Given the description of an element on the screen output the (x, y) to click on. 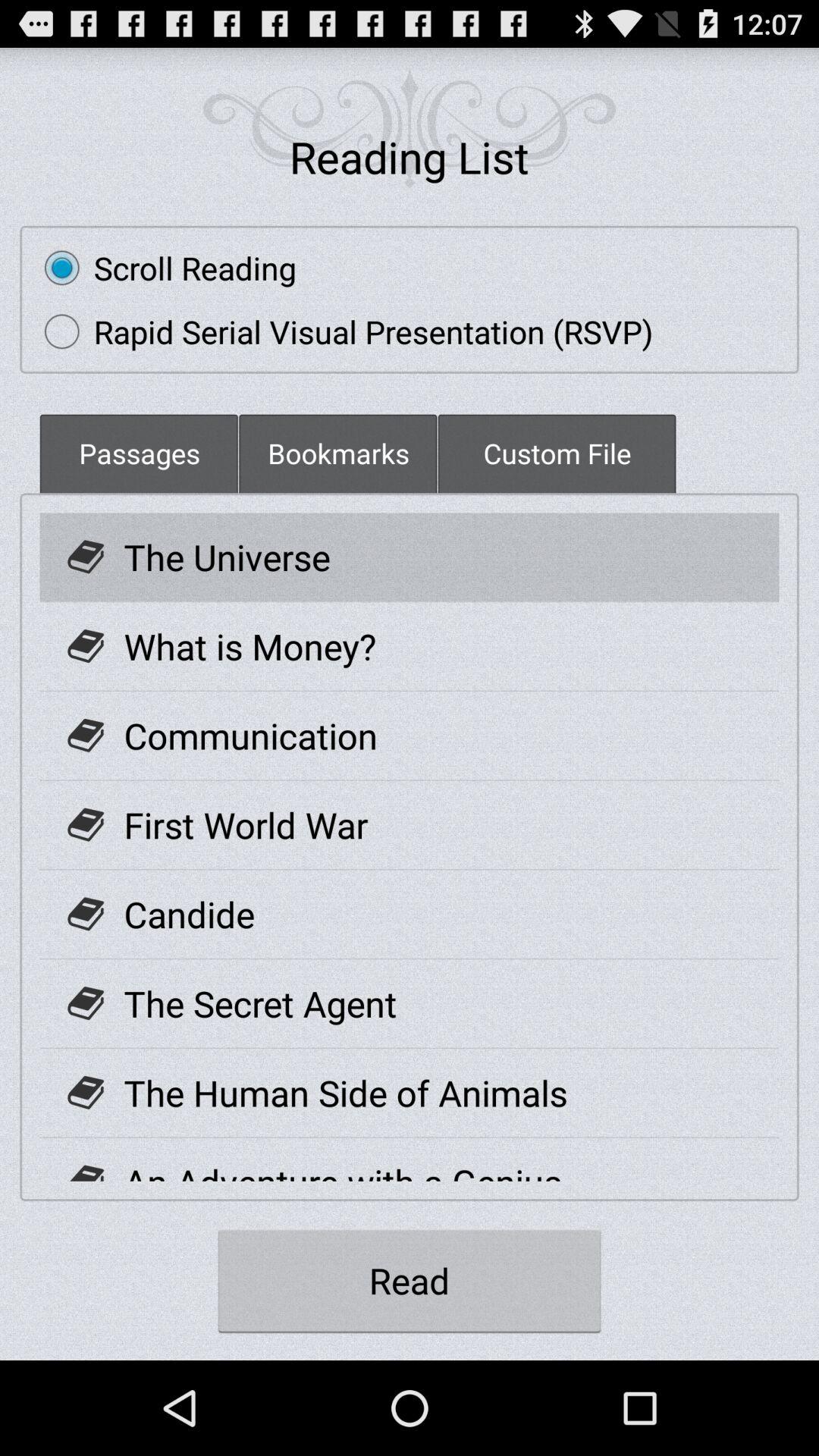
choose the icon below the rapid serial visual icon (138, 453)
